Given the description of an element on the screen output the (x, y) to click on. 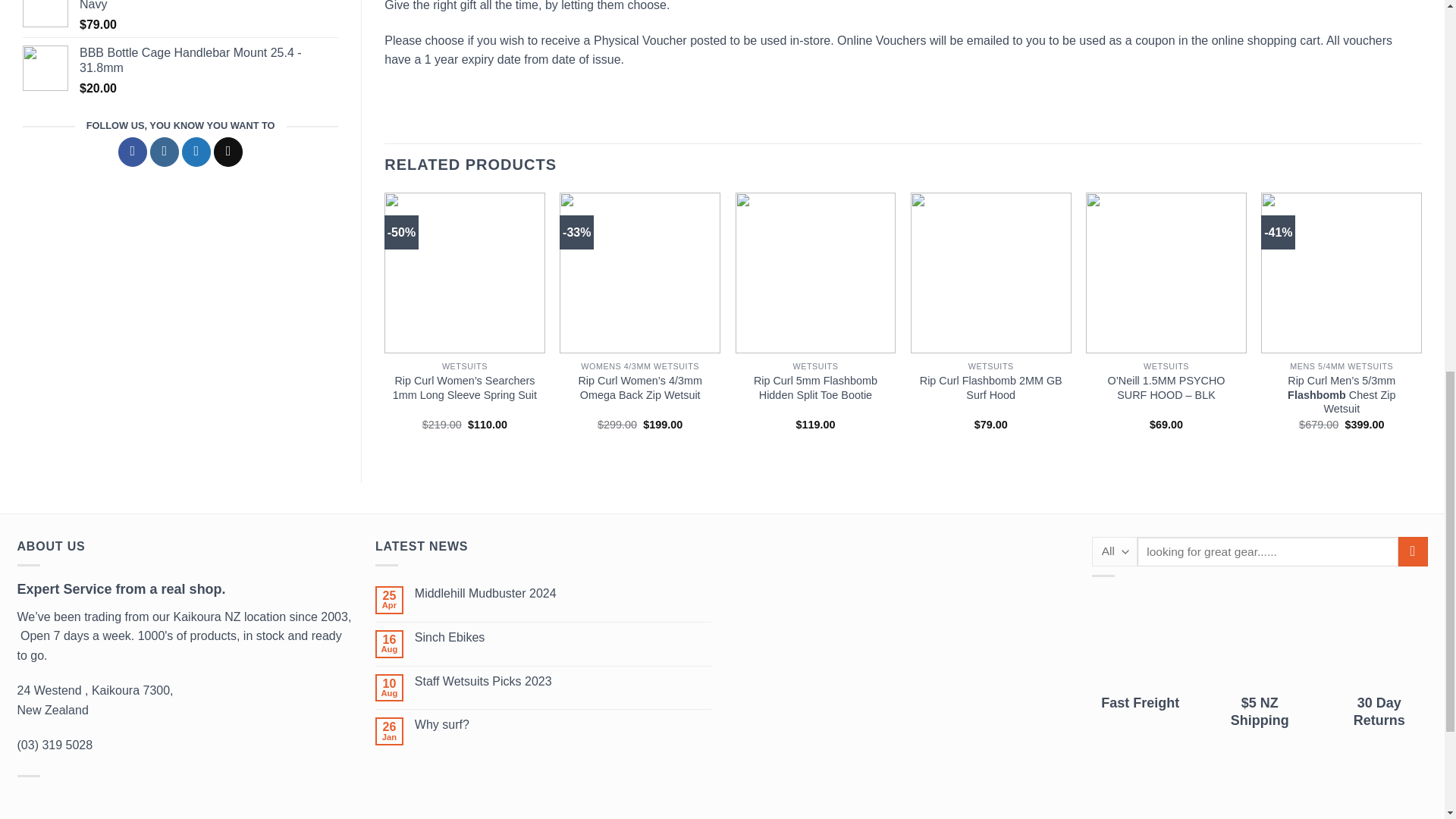
Follow on Twitter (196, 152)
Follow on Instagram (164, 152)
Follow on Facebook (132, 152)
Send us an email (228, 152)
